Given the description of an element on the screen output the (x, y) to click on. 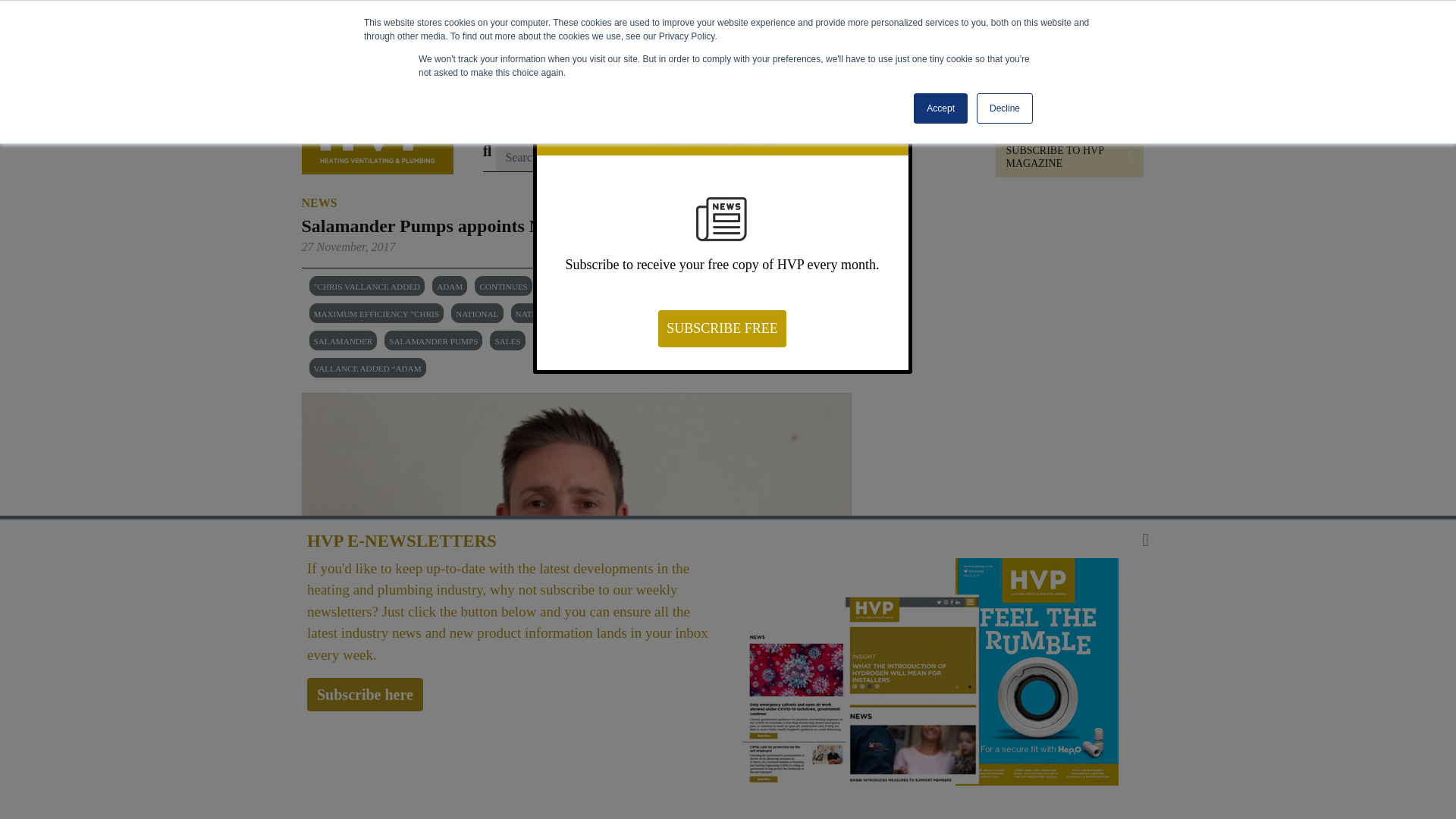
Opinion (673, 113)
Decline (1004, 108)
Magazine (783, 113)
PHEX (845, 113)
3rd party ad content (1002, 511)
News (503, 113)
3rd party ad content (734, 52)
Products (559, 113)
3rd party ad content (1002, 303)
Video (723, 113)
